Given the description of an element on the screen output the (x, y) to click on. 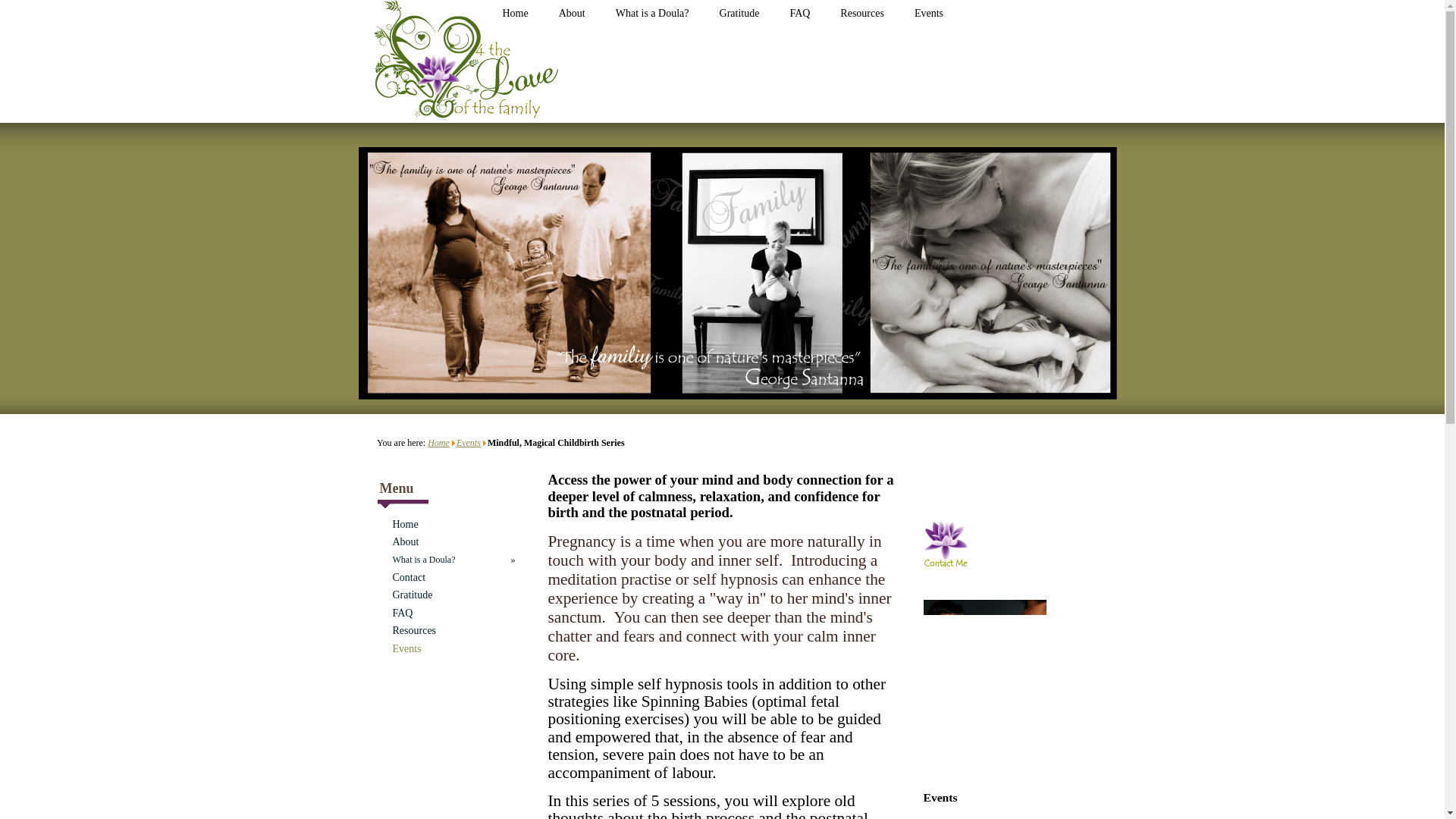
What is a Doula? (652, 17)
Resources (449, 630)
Gratitude (739, 17)
Home (438, 442)
About (571, 17)
Events (468, 442)
Gratitude (449, 594)
FAQ (798, 17)
Resources (861, 17)
FAQ (449, 612)
